Given the description of an element on the screen output the (x, y) to click on. 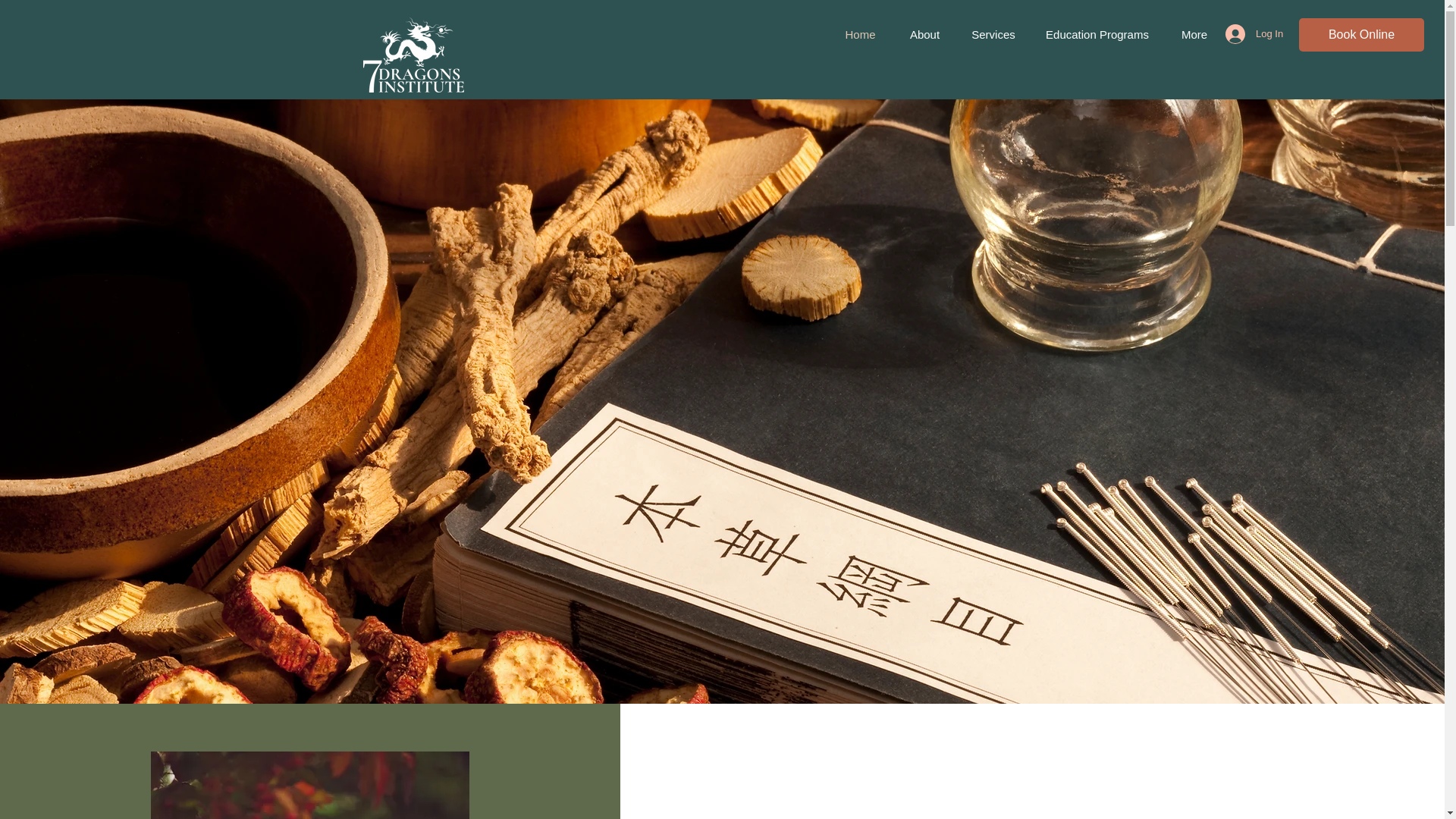
Log In (1246, 33)
Services (992, 34)
About (924, 34)
Home (860, 34)
Book Online (1360, 34)
Education Programs (1096, 34)
